Given the description of an element on the screen output the (x, y) to click on. 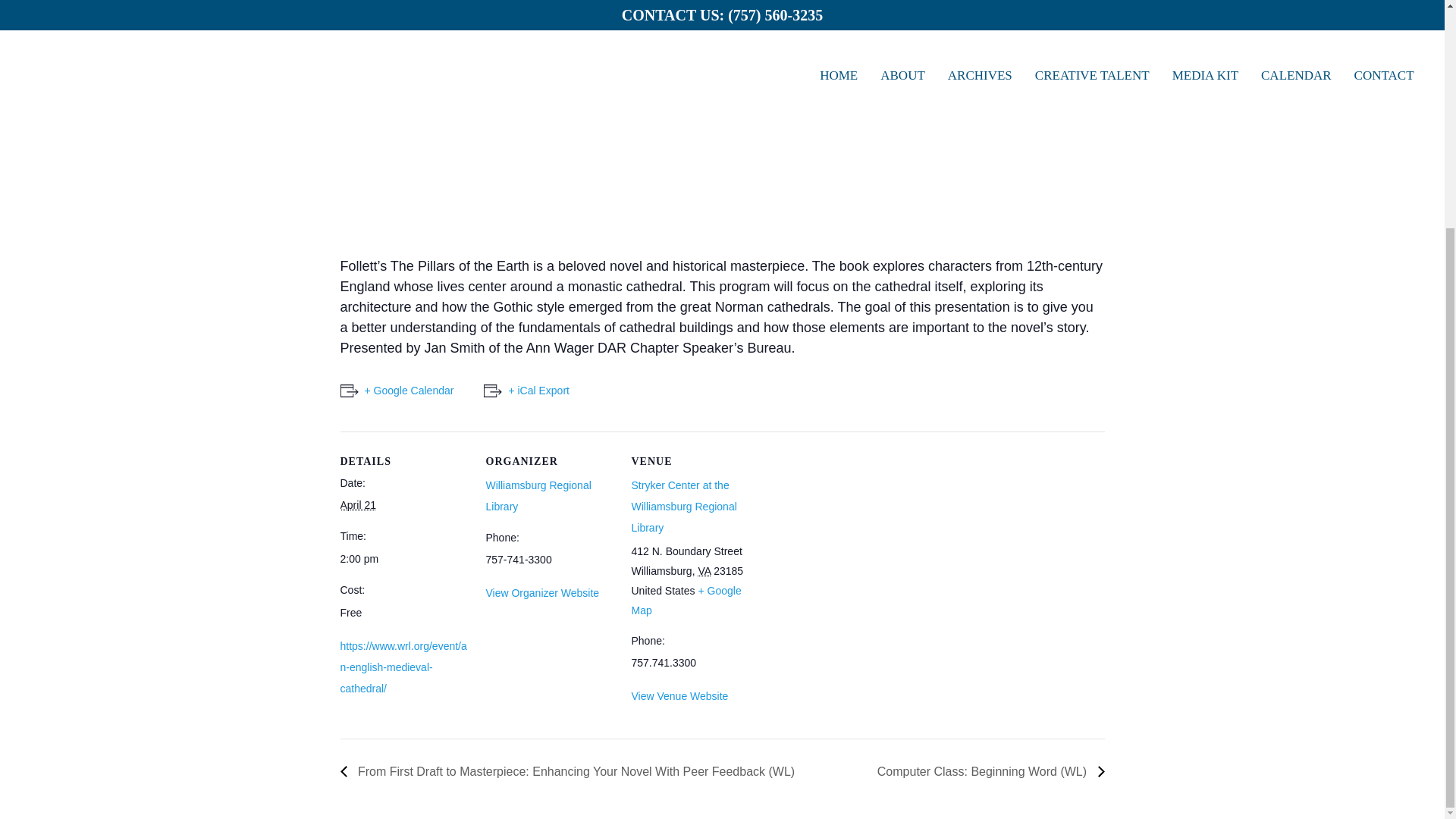
Sitemap (1066, 500)
View Organizer Website (541, 592)
Stryker Center at the Williamsburg Regional Library (683, 506)
View Venue Website (679, 695)
Williamsburg Regional Library (537, 495)
2024-04-21 (403, 558)
Virginia (703, 571)
Download .ics file (526, 390)
Williamsburg Regional Library (537, 495)
Add to Google Calendar (395, 390)
